Given the description of an element on the screen output the (x, y) to click on. 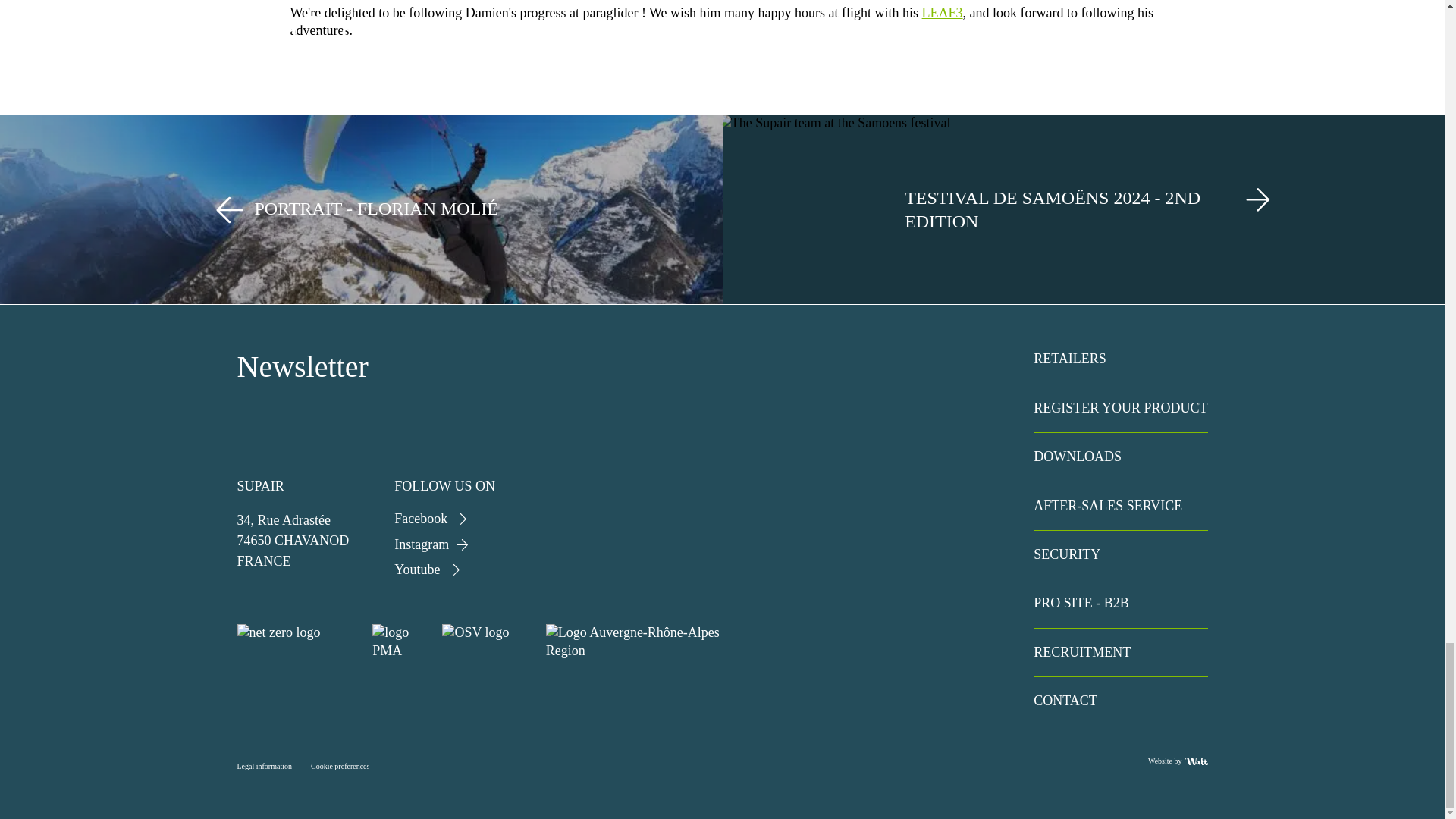
Net zero (294, 642)
Website by Walt (1177, 760)
ARA Region (642, 642)
PMA (397, 642)
Facebook (444, 522)
OSV (483, 642)
Instagram (444, 548)
Youtube (444, 569)
